Given the description of an element on the screen output the (x, y) to click on. 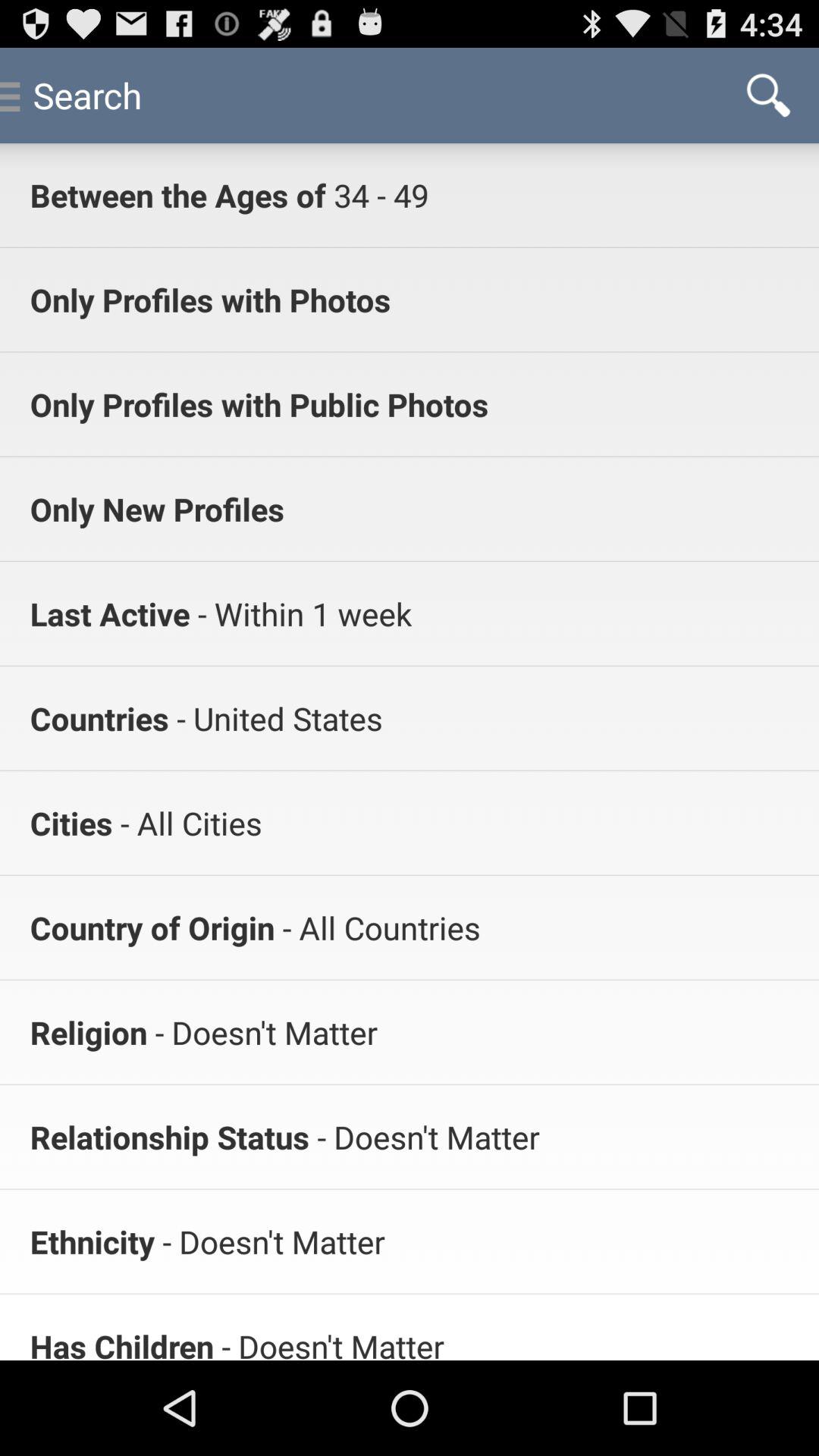
launch icon to the left of the  - within 1 week app (109, 613)
